Given the description of an element on the screen output the (x, y) to click on. 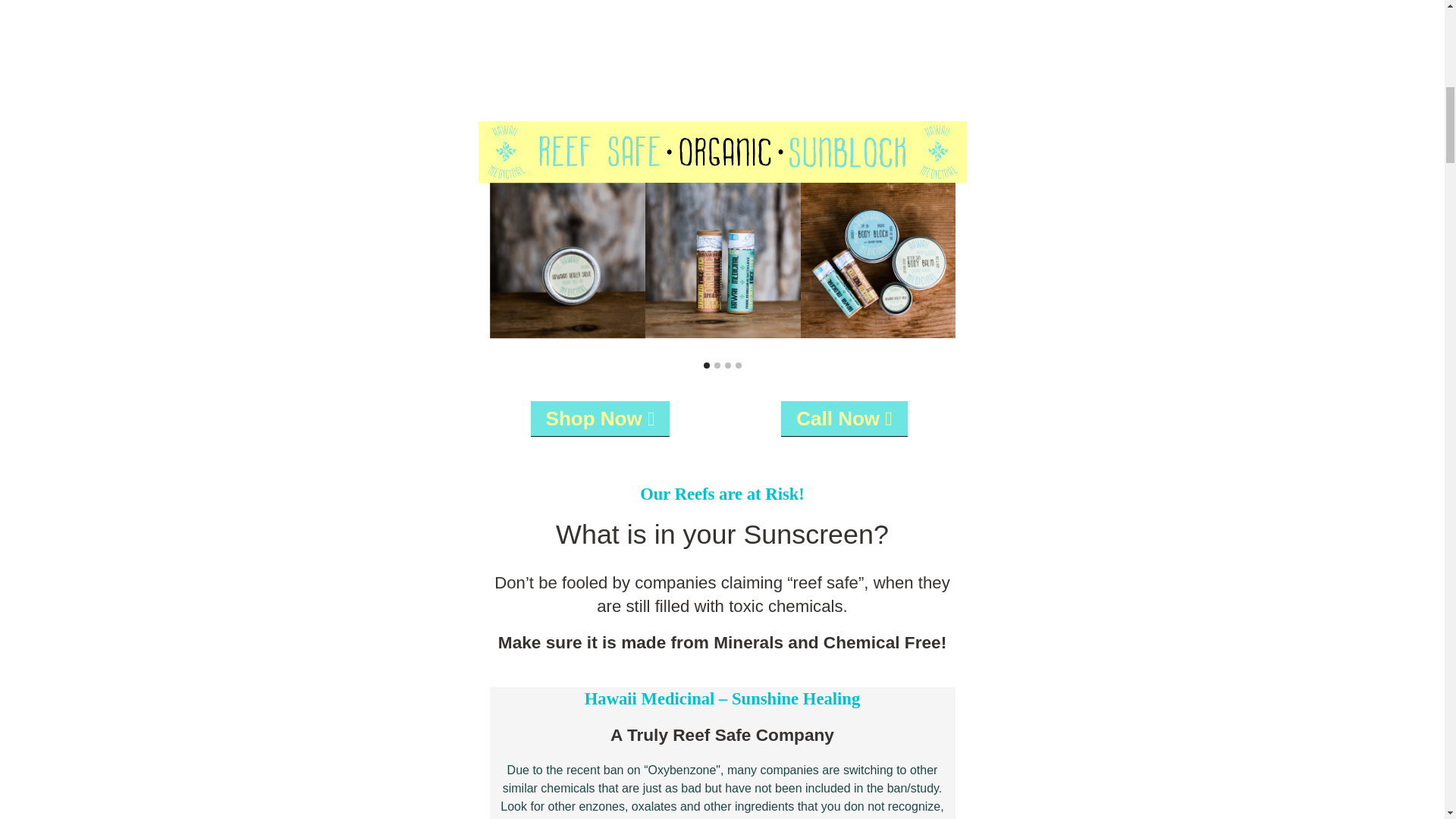
Shop Now (600, 417)
Call Now (843, 417)
